Given the description of an element on the screen output the (x, y) to click on. 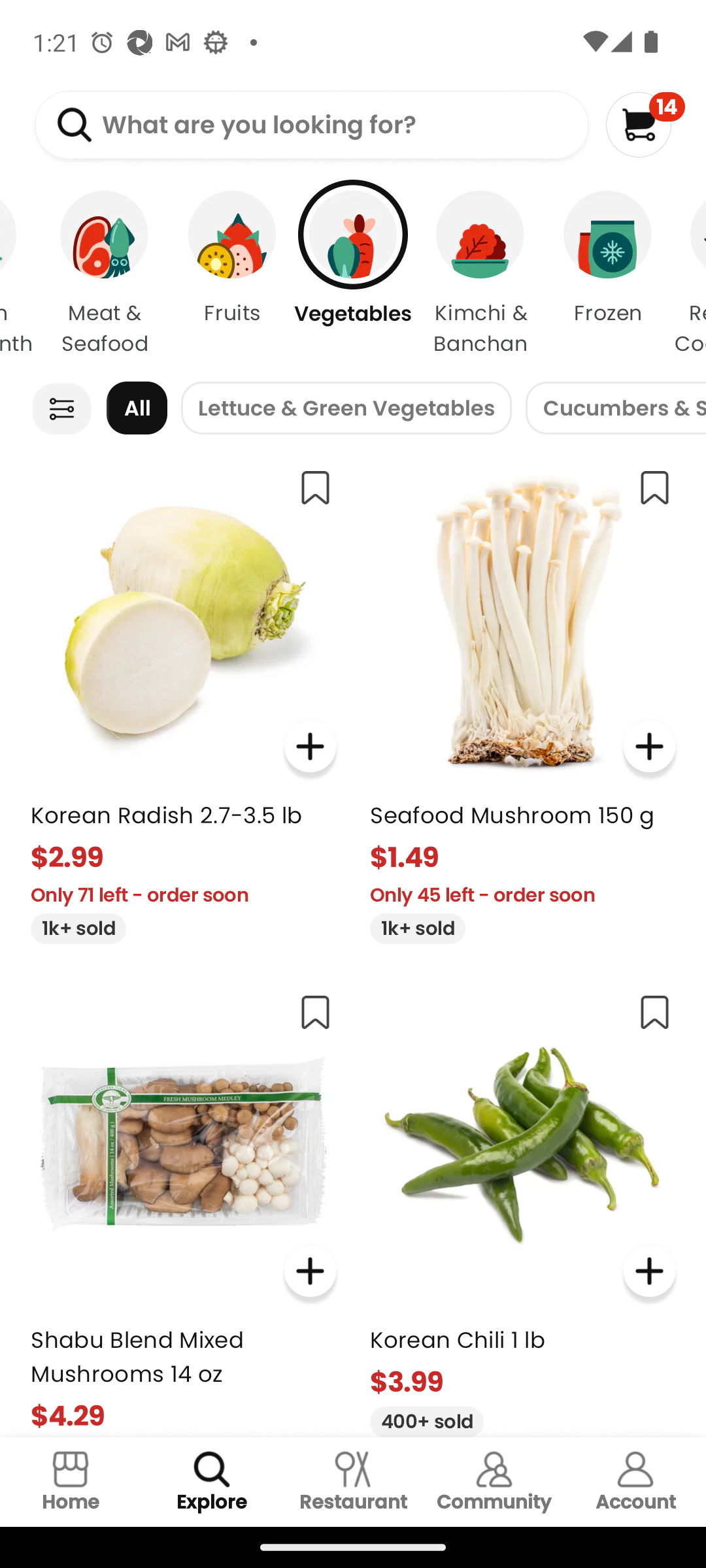
What are you looking for? (311, 124)
14 (644, 124)
Meat & Seafood (105, 274)
Fruits (232, 274)
Vegetables (352, 274)
Kimchi & Banchan (480, 274)
Frozen (607, 274)
All (136, 407)
Lettuce & Green Vegetables (345, 407)
Cucumbers & Squash (615, 407)
Shabu Blend Mixed Mushrooms 14 oz $4.29 (182, 1207)
Korean Chili 1 lb $3.99 400+ sold (522, 1207)
Home (70, 1482)
Explore (211, 1482)
Restaurant (352, 1482)
Community (493, 1482)
Account (635, 1482)
